Given the description of an element on the screen output the (x, y) to click on. 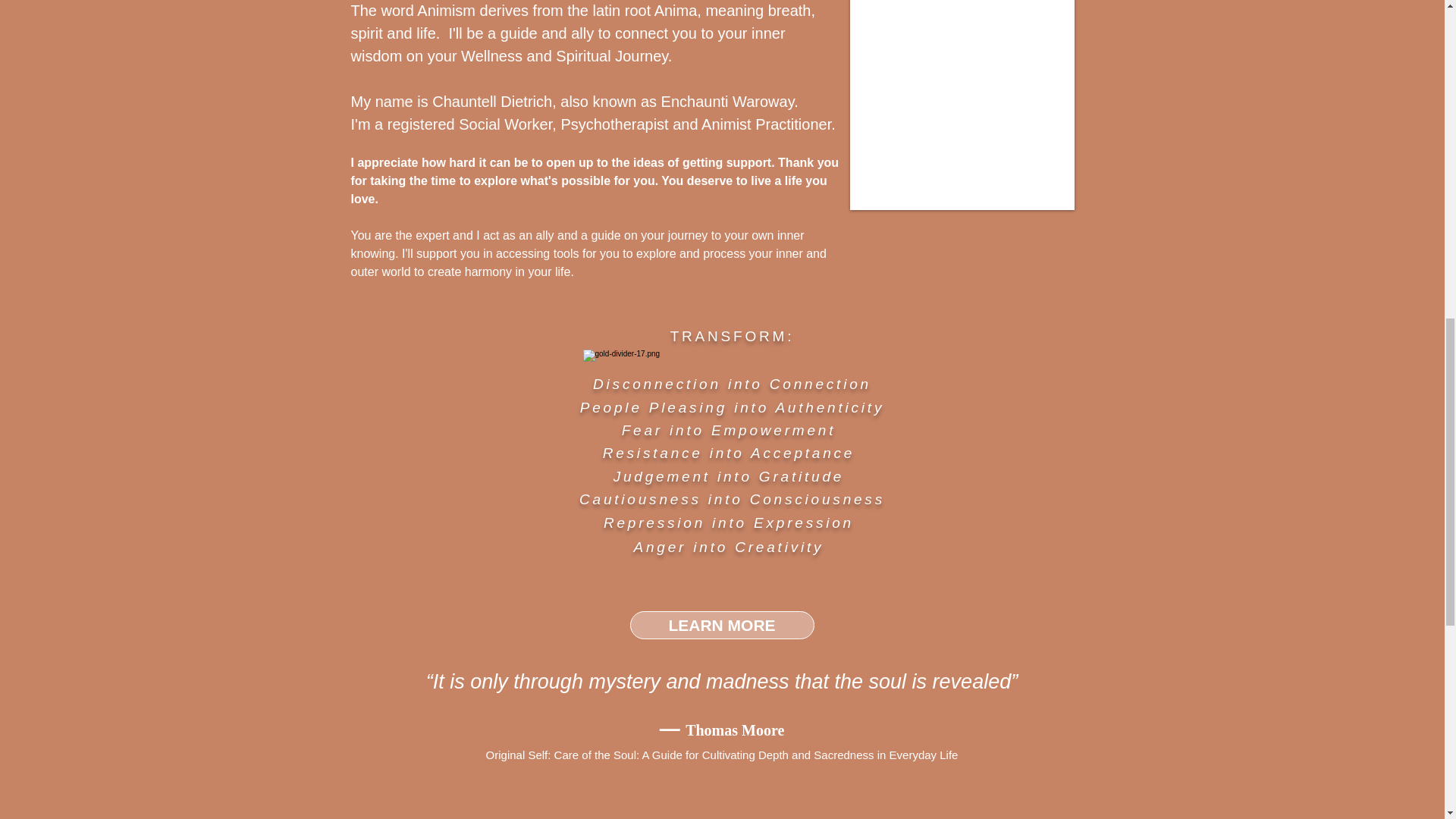
Original Self: (520, 754)
LEARN MORE (720, 624)
